Given the description of an element on the screen output the (x, y) to click on. 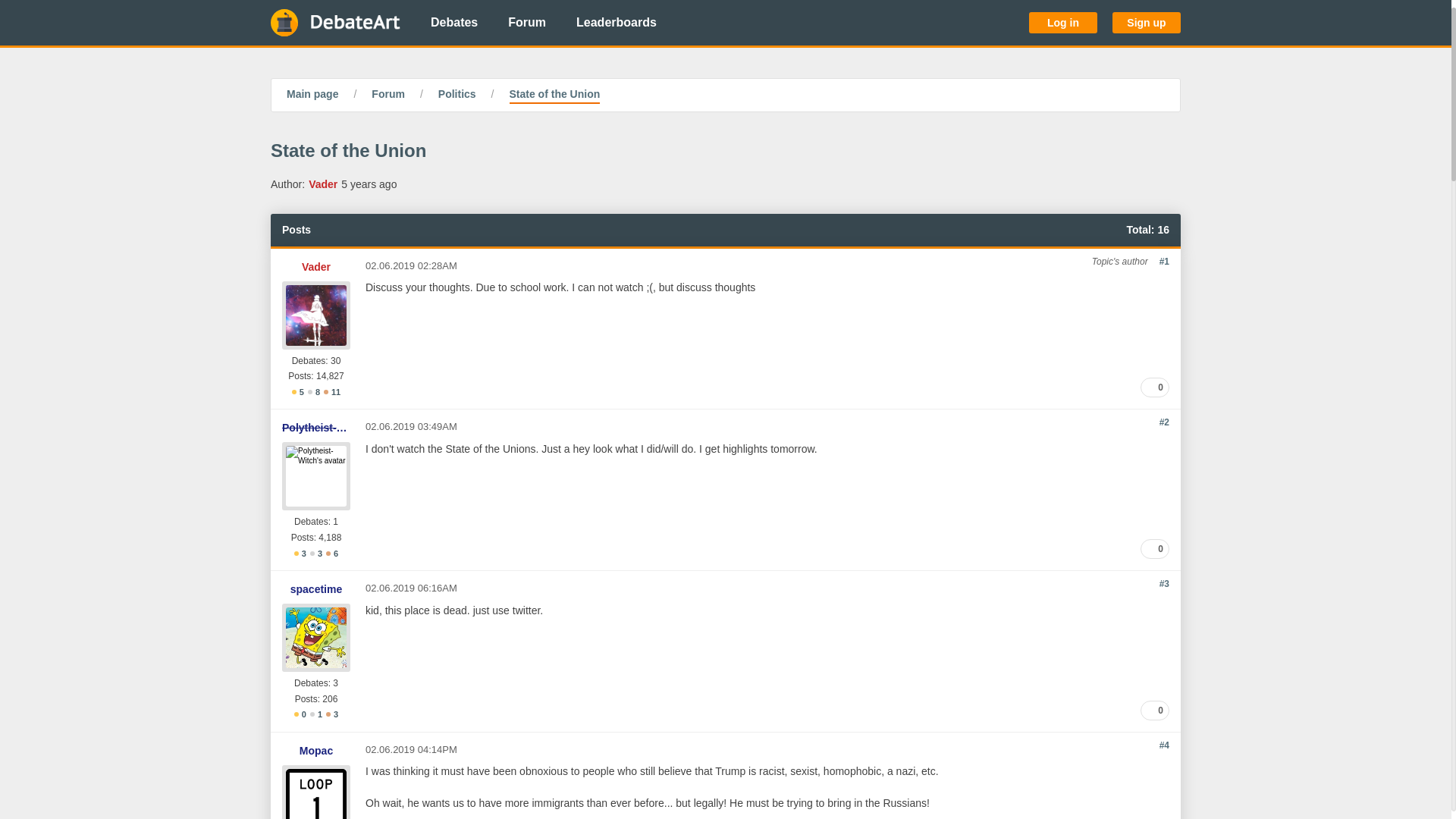
Debates (453, 22)
Vader (315, 266)
Go to main page (335, 22)
Vader (322, 183)
Politics (457, 95)
Mopac (316, 750)
Polytheist-Witch (316, 427)
0 (1154, 387)
